Given the description of an element on the screen output the (x, y) to click on. 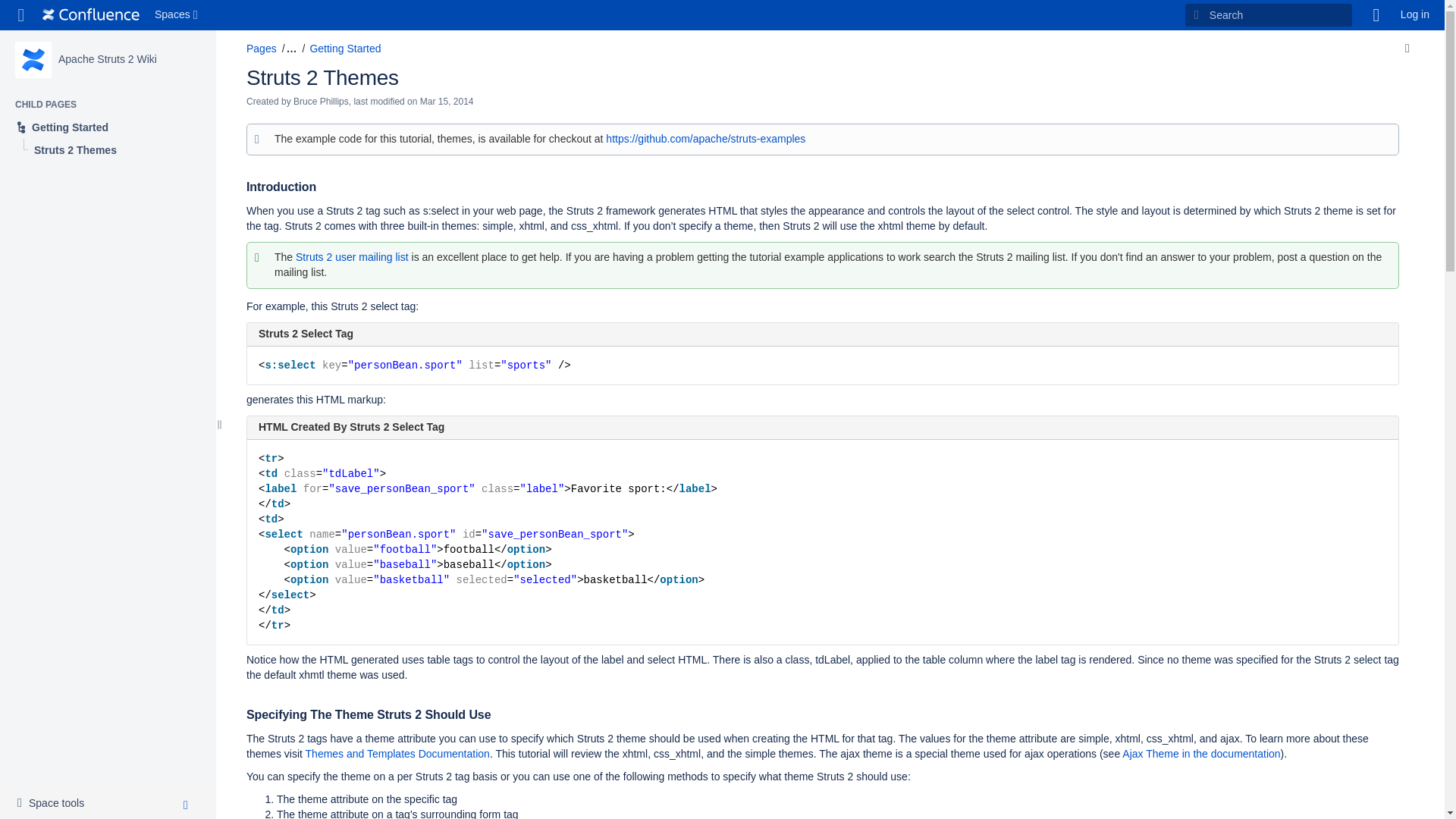
Apache Struts 2 Wiki (107, 59)
Getting Started (107, 127)
Getting Started (344, 48)
Getting Started (54, 803)
Apache Struts 2 Wiki (107, 127)
Help (107, 59)
Spaces (1376, 15)
Log in (177, 15)
Apache Software Foundation (1415, 15)
